Given the description of an element on the screen output the (x, y) to click on. 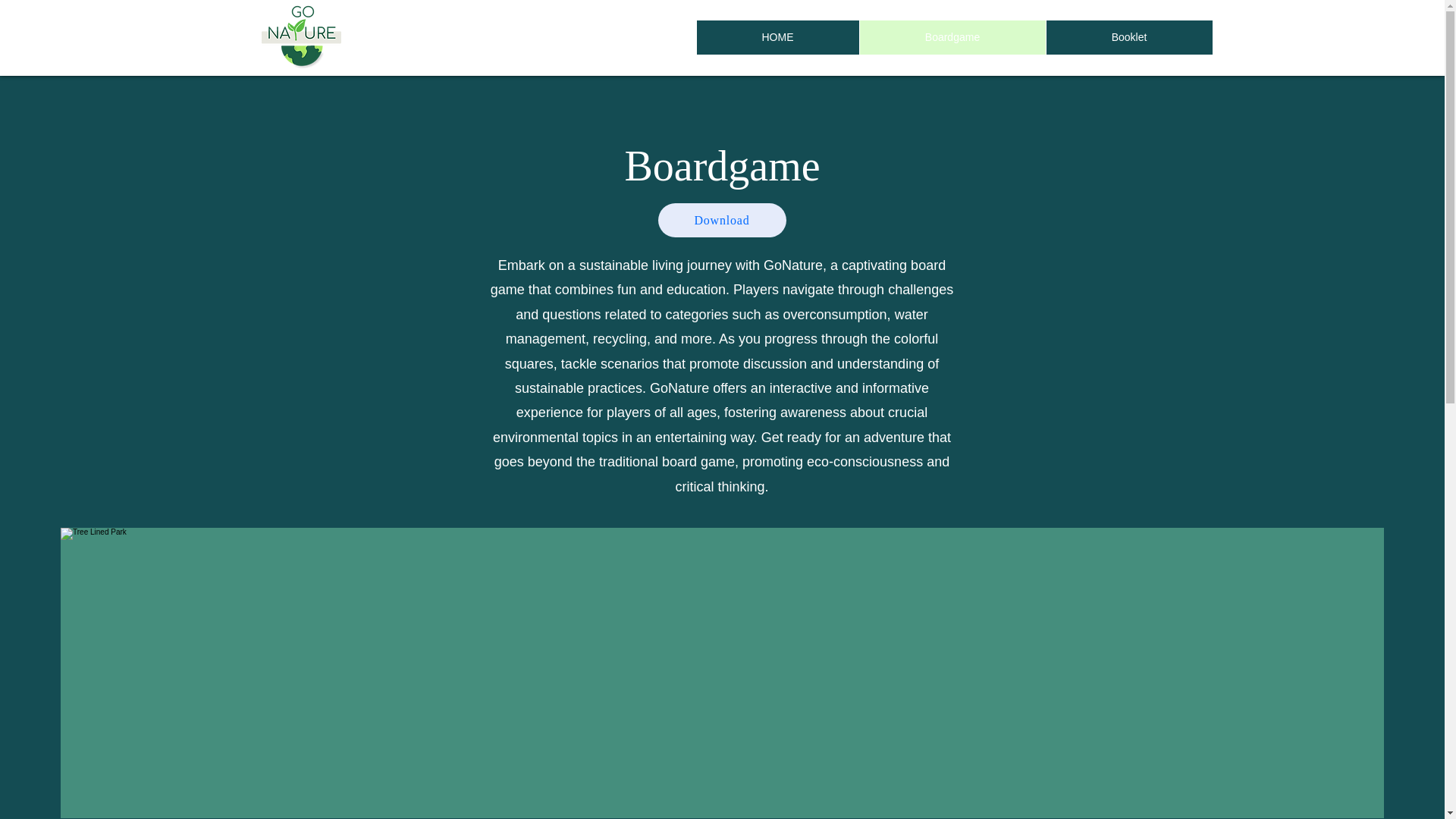
HOME (777, 37)
Download (722, 220)
Boardgame (952, 37)
Booklet (1128, 37)
